Given the description of an element on the screen output the (x, y) to click on. 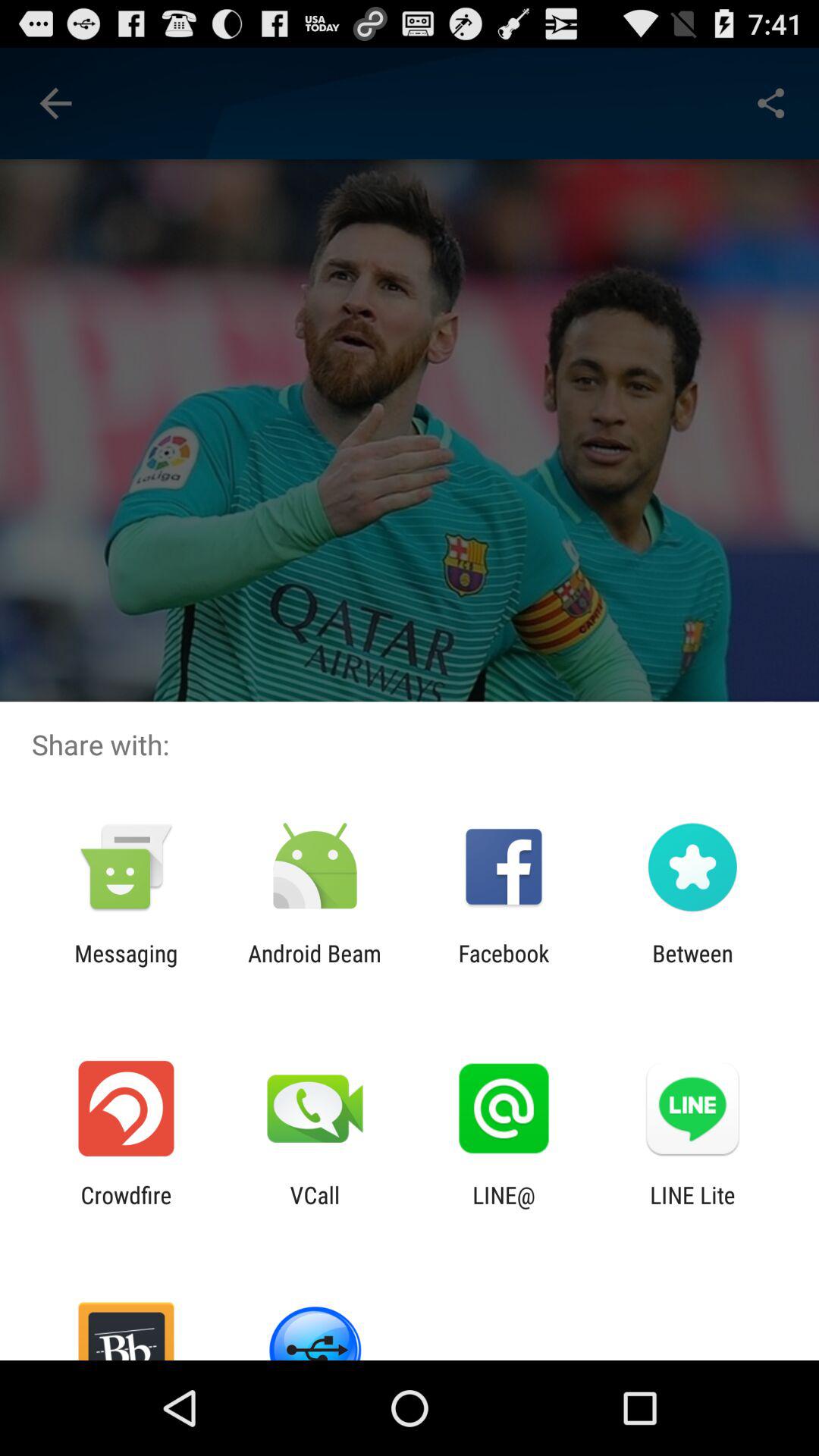
press icon next to the android beam icon (503, 966)
